Given the description of an element on the screen output the (x, y) to click on. 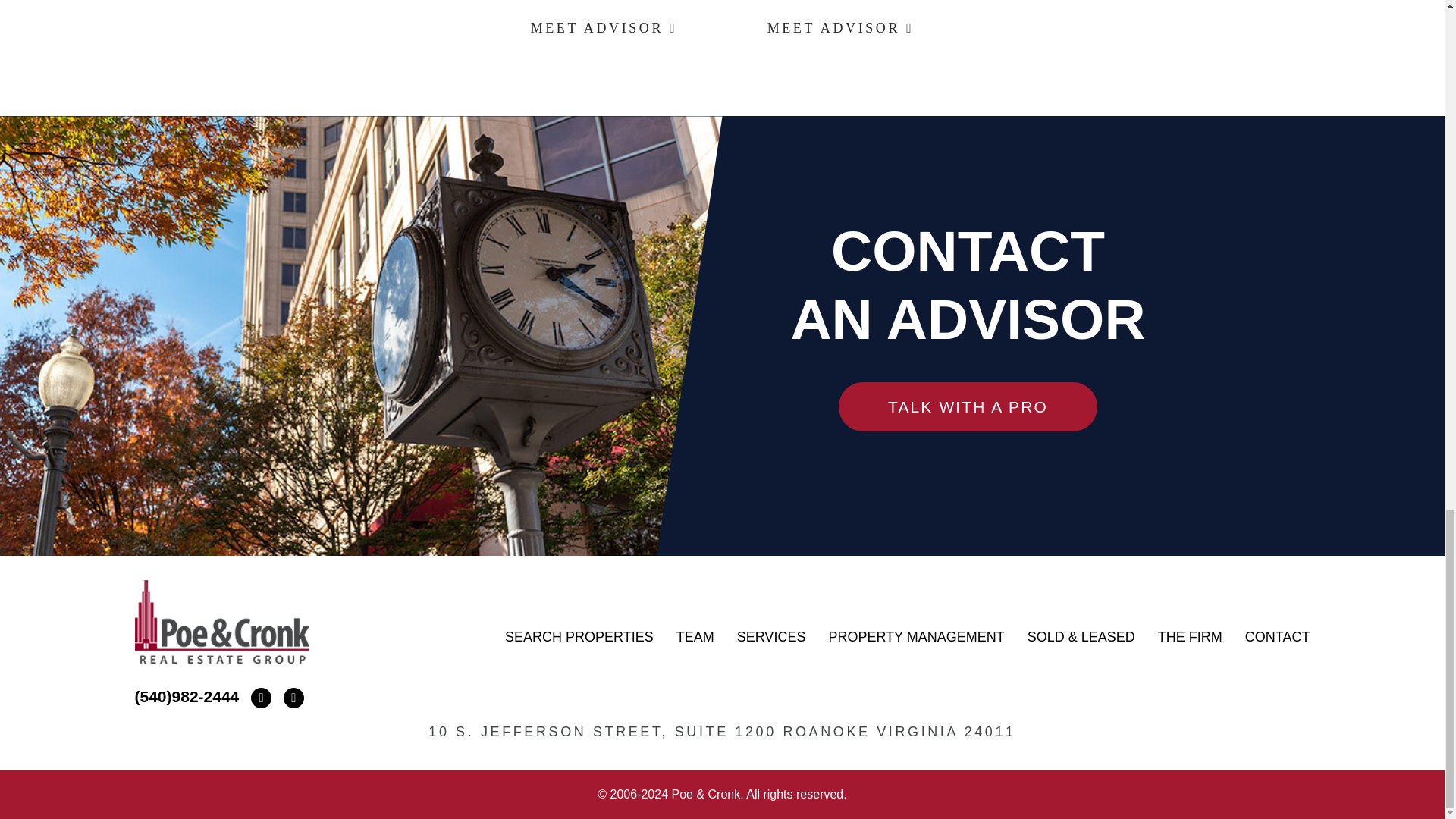
Facebook (256, 696)
Search Properties (579, 637)
LinkedIn (290, 696)
Property Management (916, 637)
MEET ADVISOR (604, 27)
TEAM (695, 637)
The Firm (1190, 637)
Team (695, 637)
MEET ADVISOR (840, 27)
Services (771, 637)
THE FIRM (1190, 637)
Contact (1277, 637)
SERVICES (771, 637)
SEARCH PROPERTIES (579, 637)
TALK WITH A PRO (967, 407)
